Given the description of an element on the screen output the (x, y) to click on. 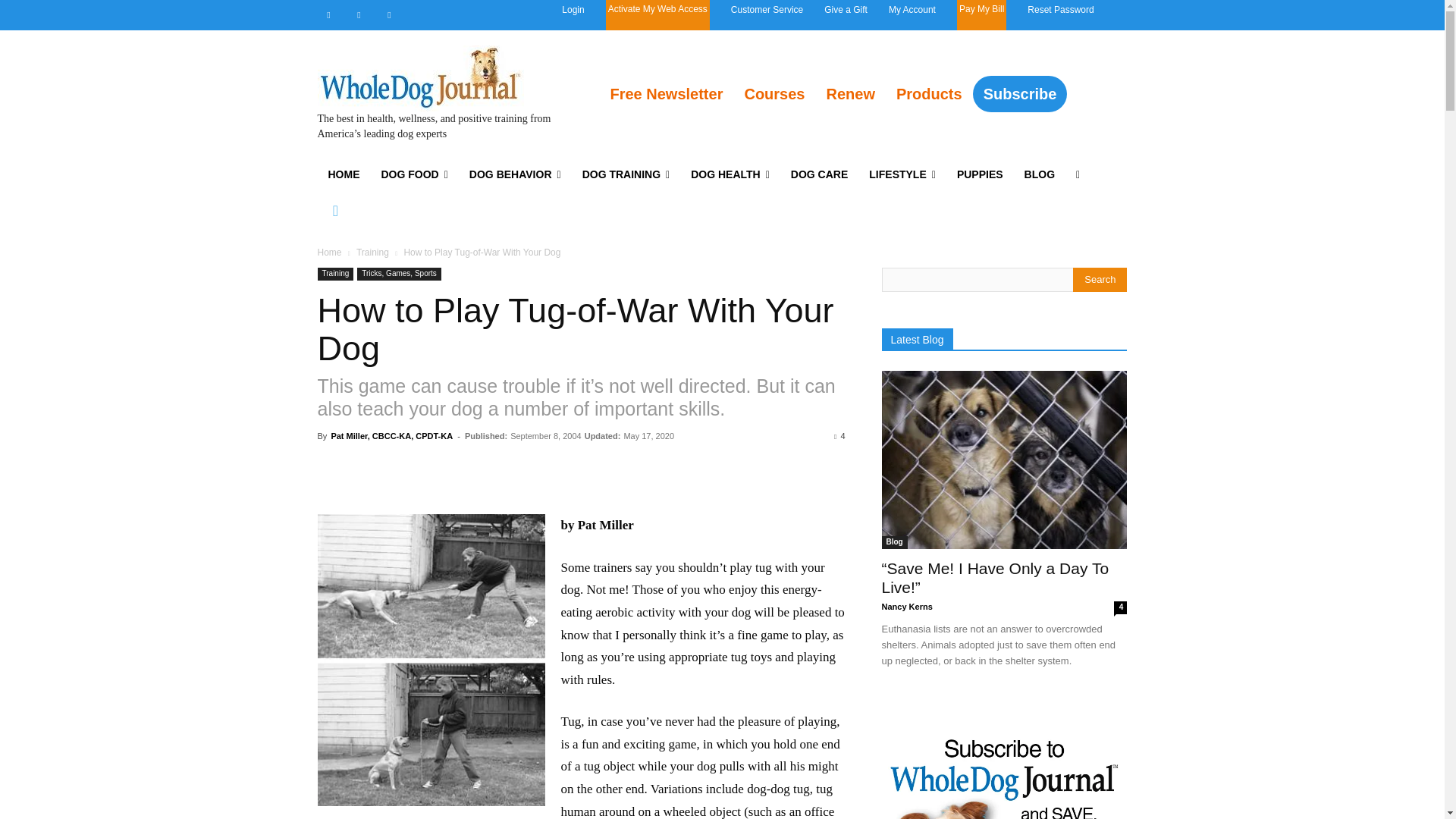
Customer Service (766, 9)
Search (1099, 279)
Activate My Web Access (657, 15)
Give a Gift (845, 9)
Twitter (388, 15)
Facebook (328, 15)
Login (572, 9)
Instagram (358, 15)
